Given the description of an element on the screen output the (x, y) to click on. 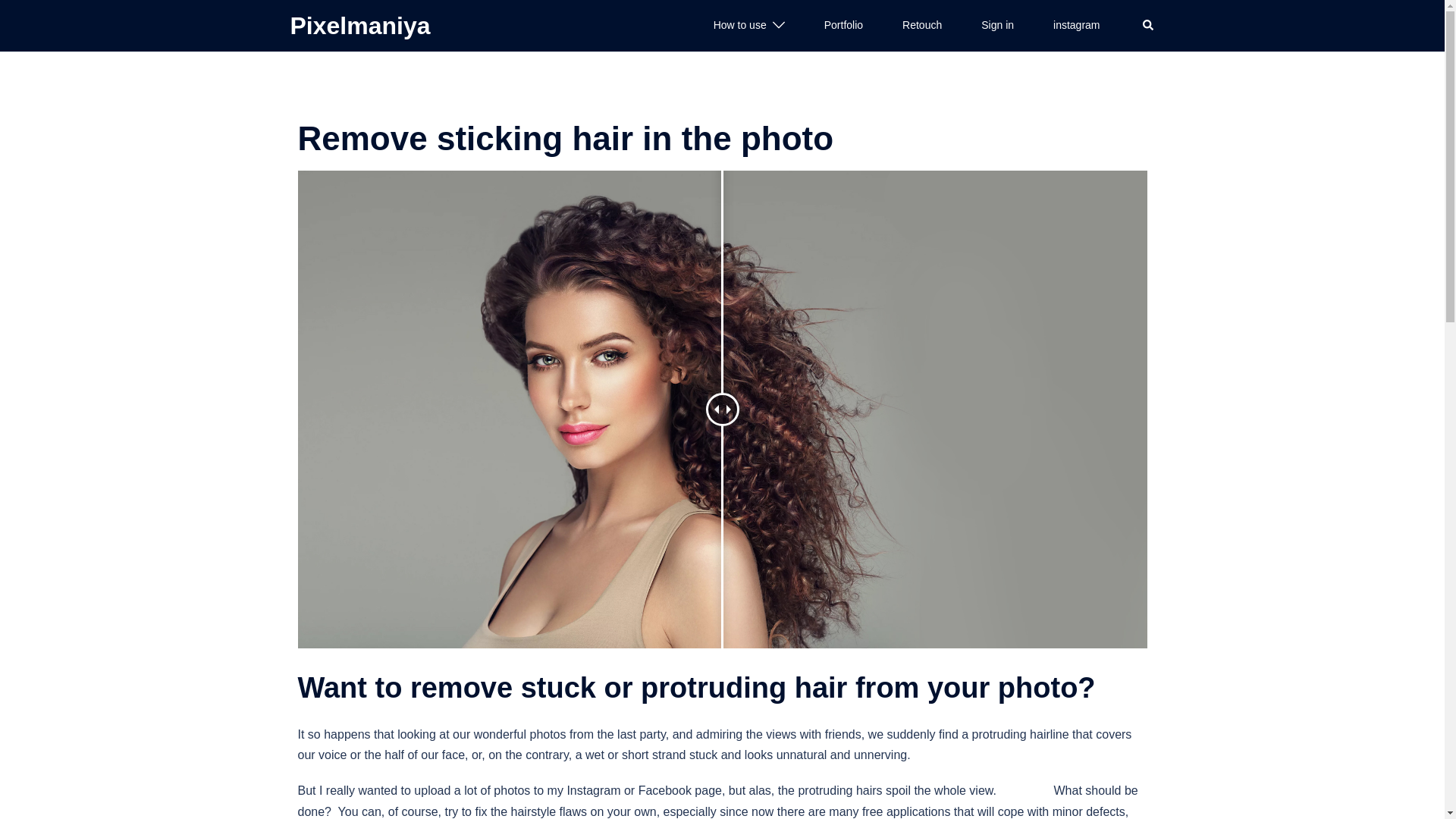
instagram (1075, 25)
Sign in (997, 25)
How to use (740, 25)
Pixelmaniya (359, 25)
Retouch (922, 25)
Portfolio (843, 25)
